Given the description of an element on the screen output the (x, y) to click on. 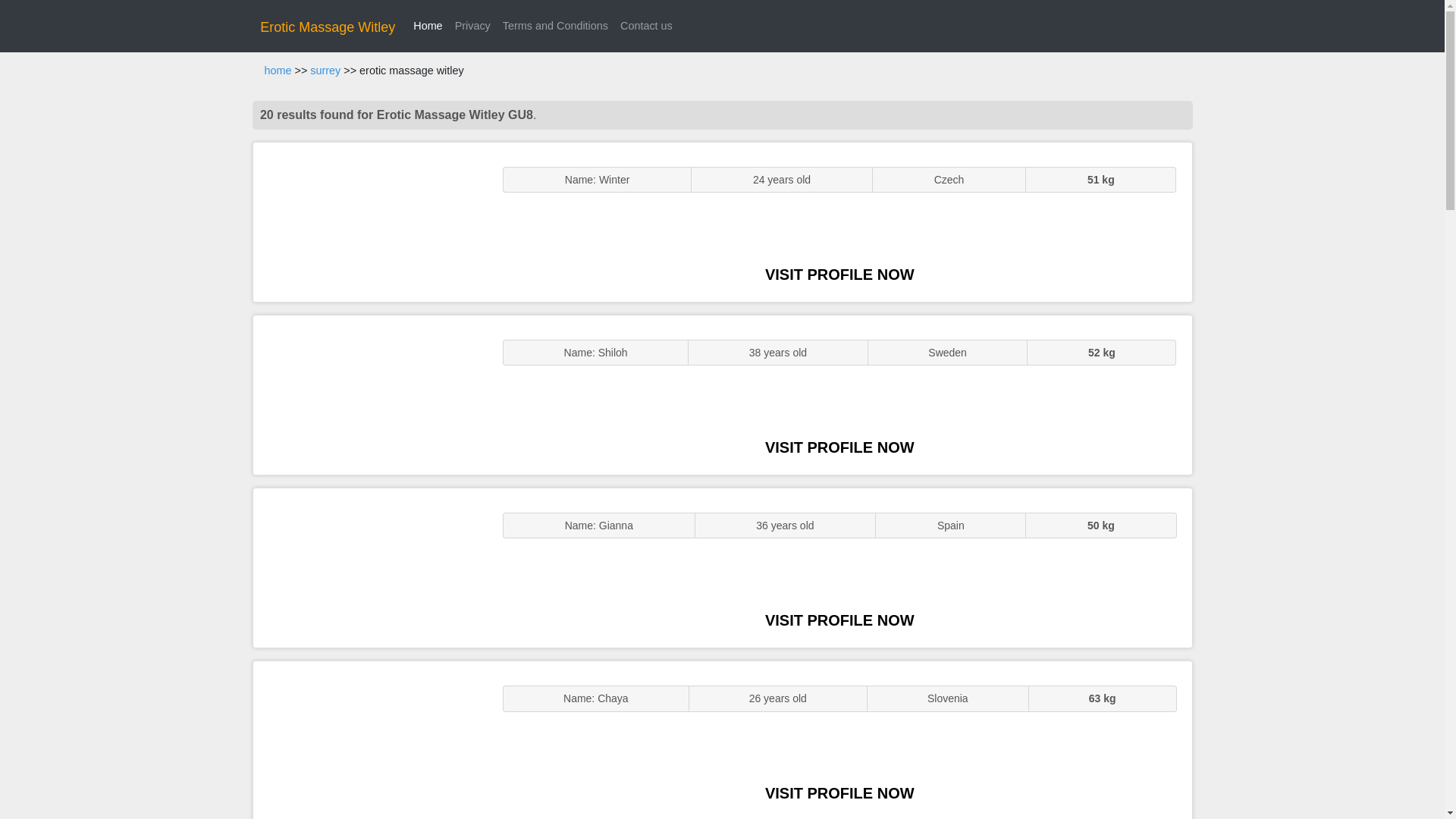
Erotic Massage Witley (327, 27)
surrey (325, 70)
VISIT PROFILE NOW (839, 792)
Privacy (472, 25)
Contact us (646, 25)
Sluts (370, 739)
home (277, 70)
 ENGLISH STUNNER (370, 222)
VISIT PROFILE NOW (839, 619)
Sexy (370, 567)
